Given the description of an element on the screen output the (x, y) to click on. 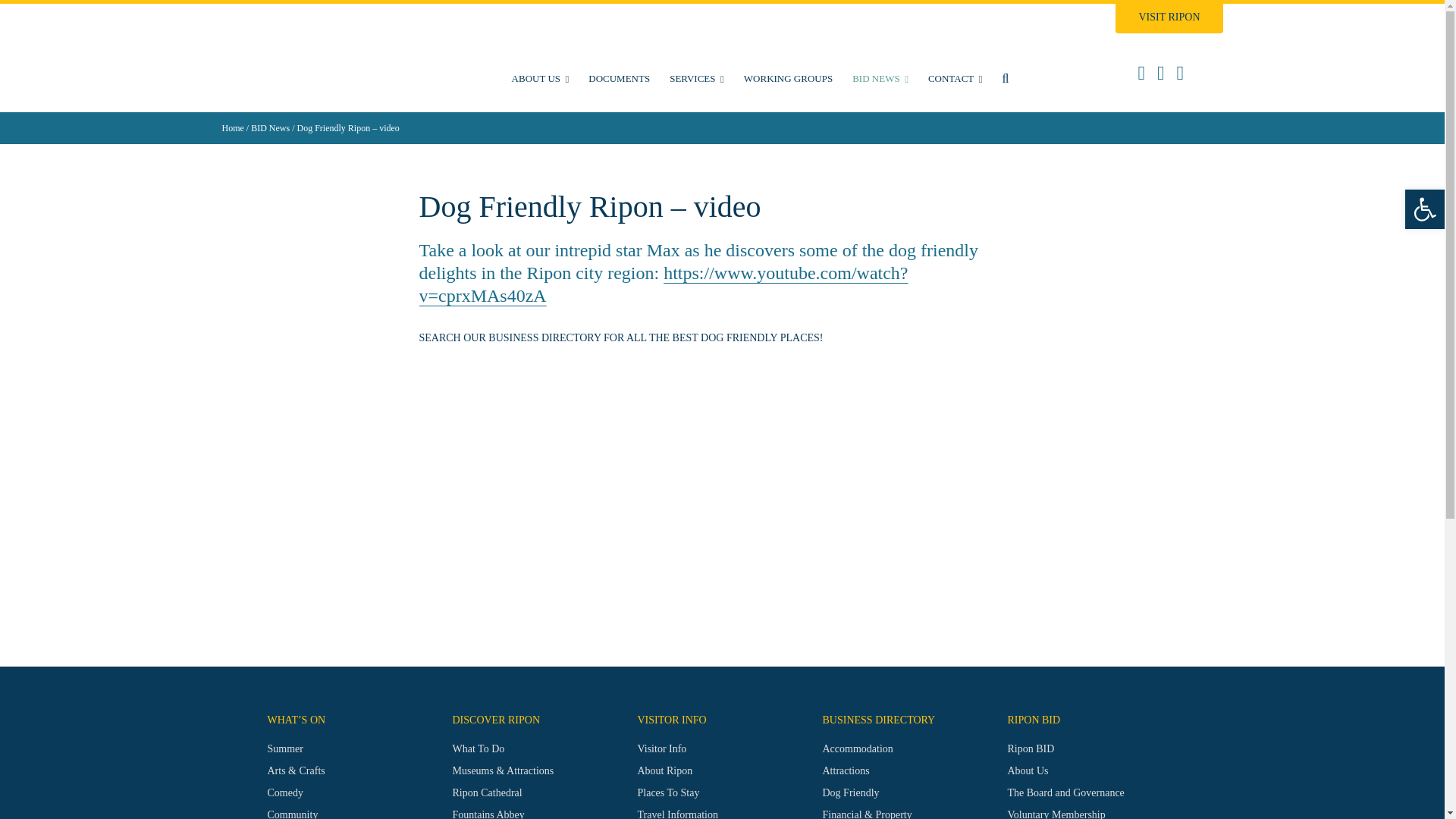
Facebook (1141, 73)
SERVICES (696, 78)
Accessibility Tools (1424, 209)
Search (1004, 78)
WORKING GROUPS (788, 78)
CONTACT (955, 78)
Instagram (1160, 73)
BID NEWS (880, 78)
VISIT RIPON (1169, 18)
ABOUT US (540, 78)
DOCUMENTS (618, 78)
